Given the description of an element on the screen output the (x, y) to click on. 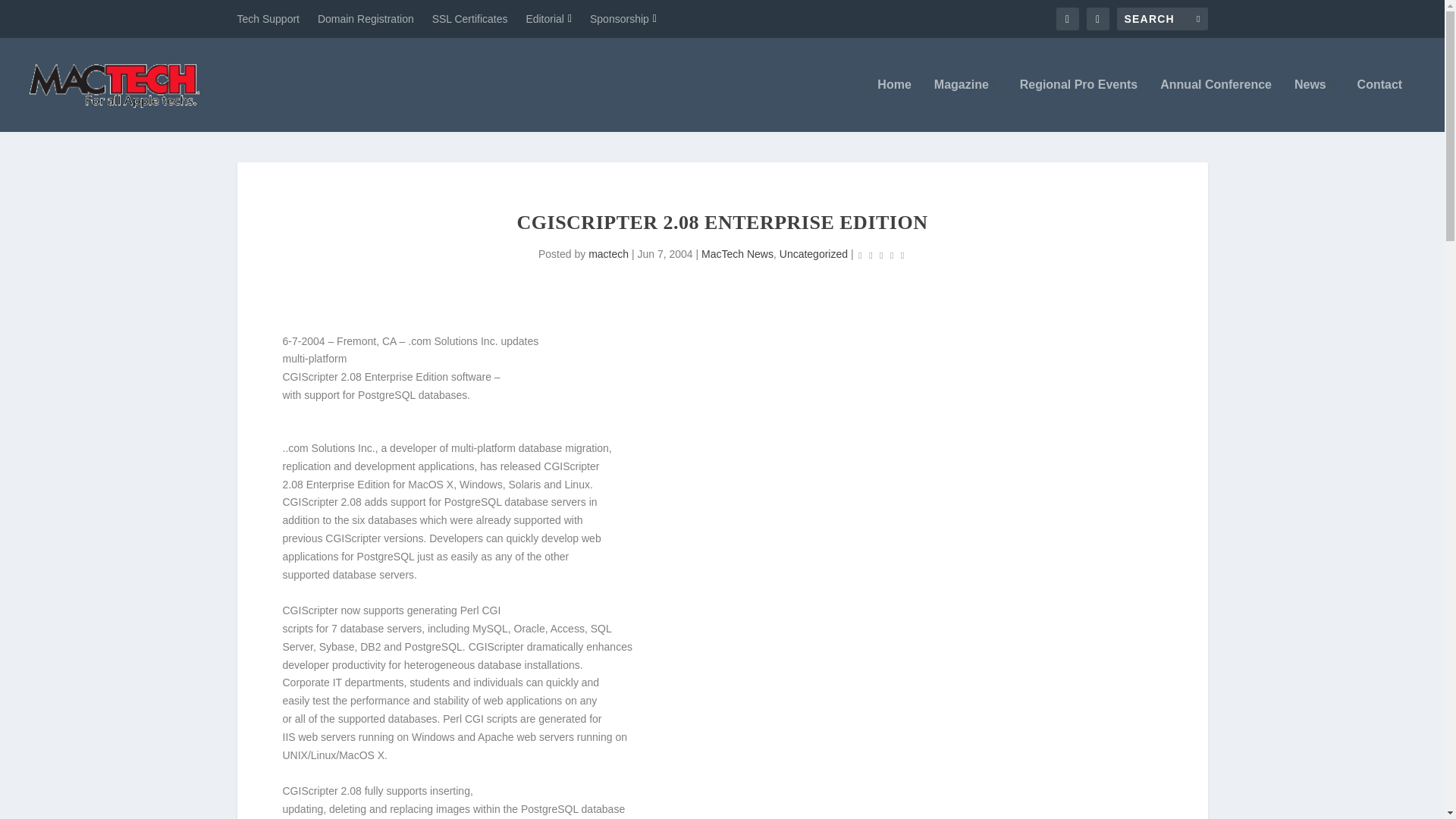
Posts by mactech (608, 254)
Domain Registration (365, 18)
Magazine (965, 104)
Tech Support (267, 18)
Contact (1383, 104)
Rating: 0.00 (880, 254)
SSL Certificates (470, 18)
Annual Conference (1215, 104)
Search for: (1161, 18)
Regional Pro Events (1079, 104)
